Given the description of an element on the screen output the (x, y) to click on. 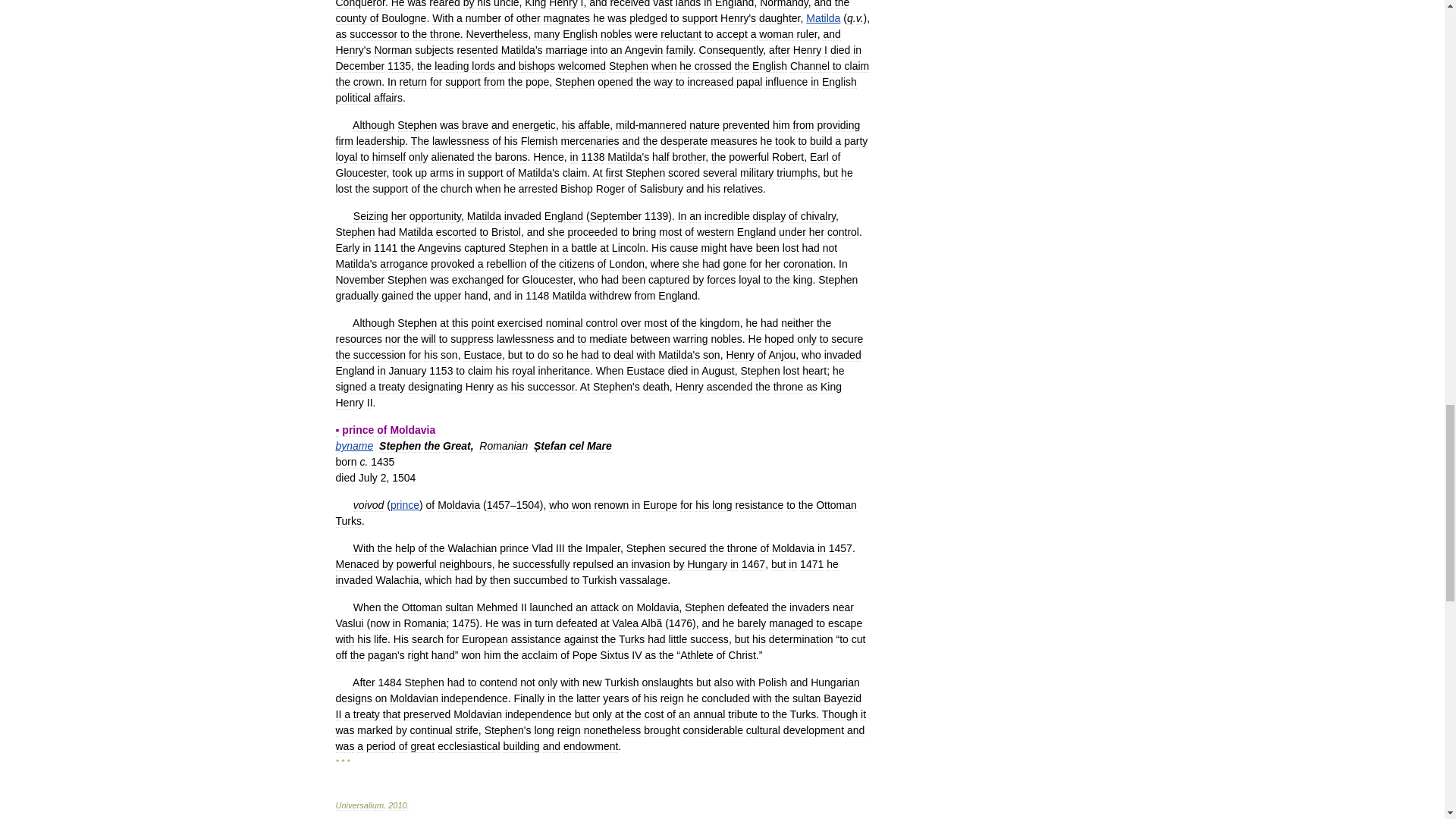
byname (353, 445)
prince (404, 504)
Matilda (823, 18)
